Given the description of an element on the screen output the (x, y) to click on. 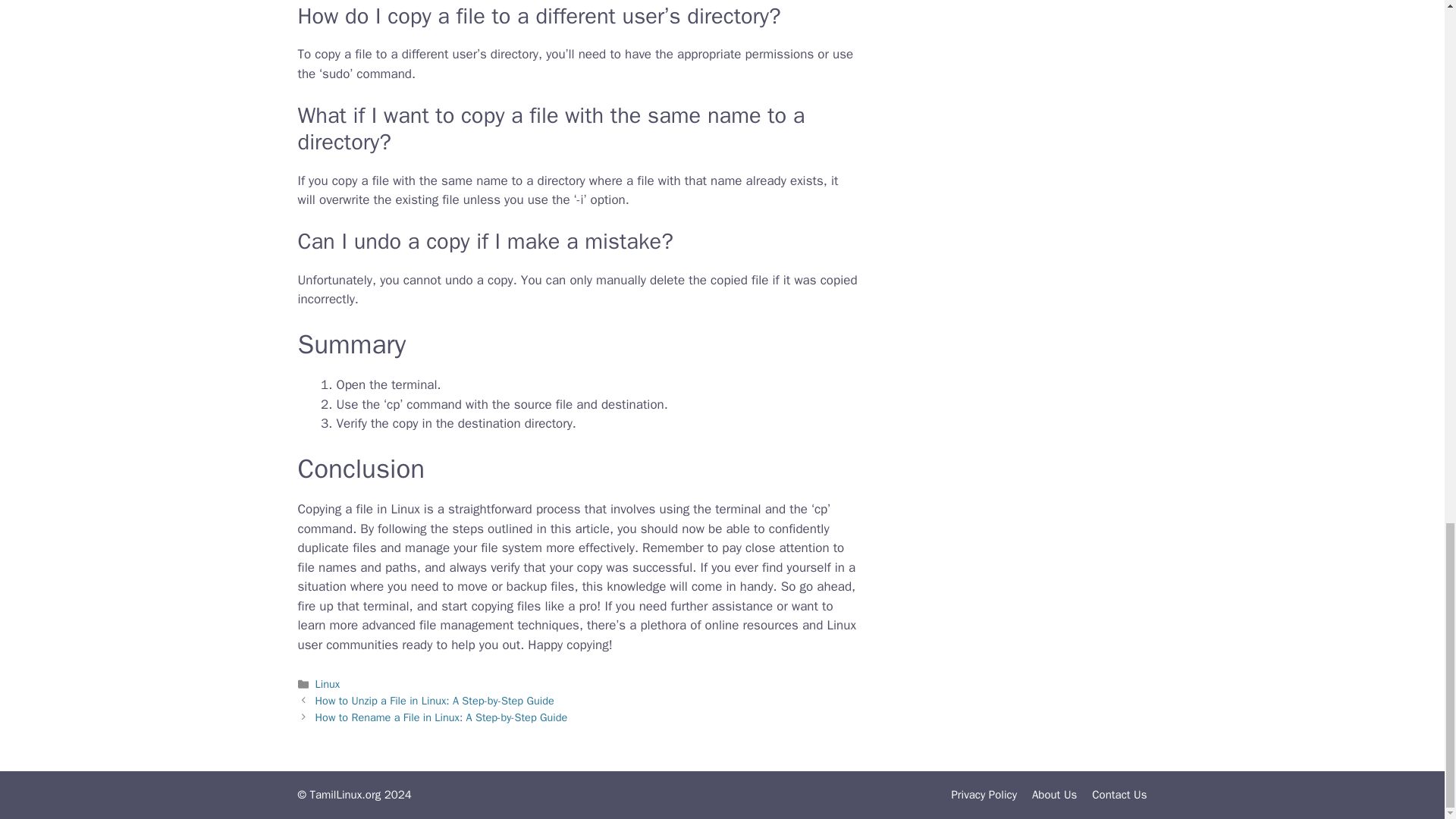
About Us (1054, 794)
Contact Us (1119, 794)
Linux (327, 684)
How to Unzip a File in Linux: A Step-by-Step Guide (434, 700)
How to Rename a File in Linux: A Step-by-Step Guide (441, 716)
Privacy Policy (983, 794)
